Given the description of an element on the screen output the (x, y) to click on. 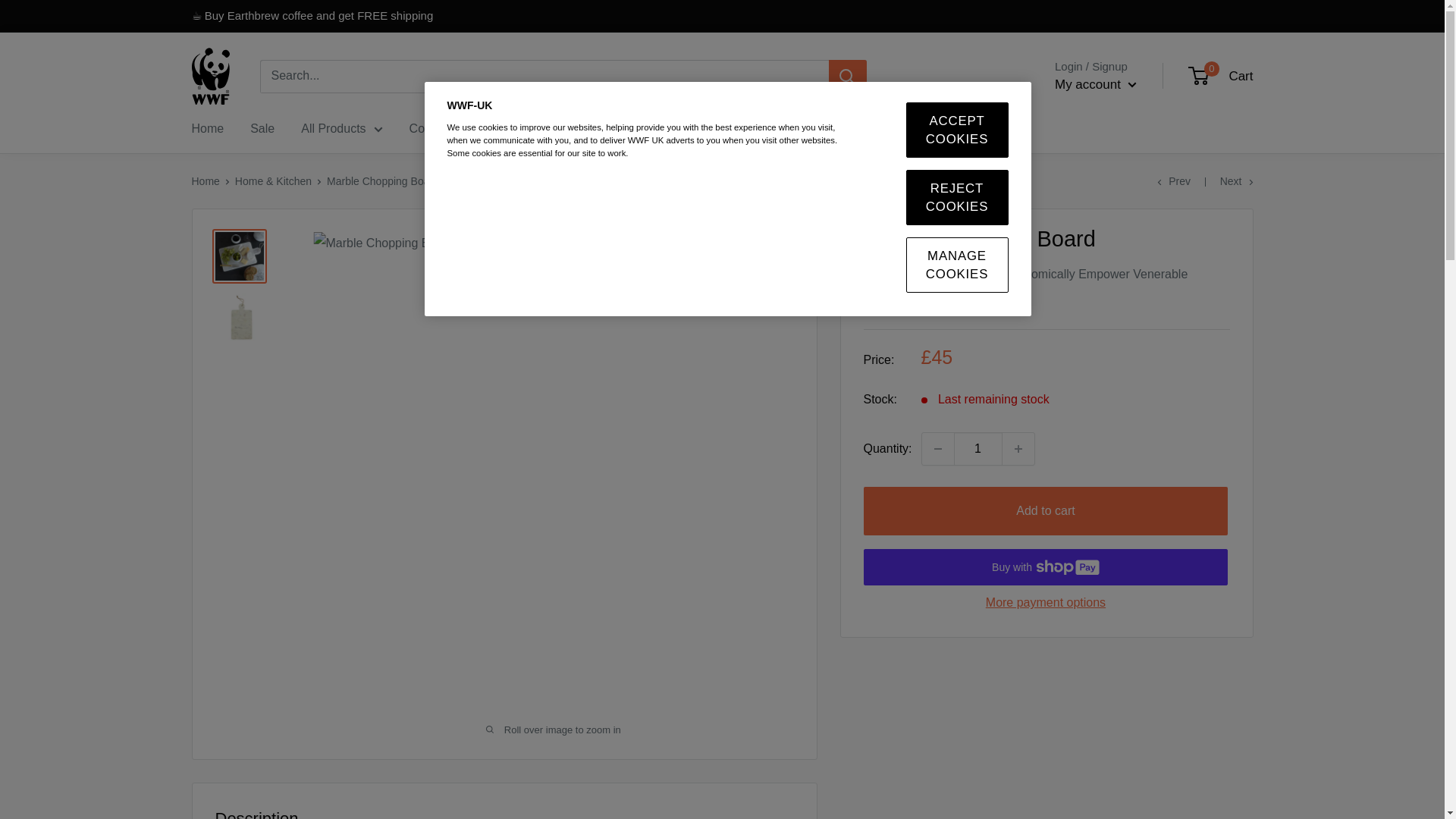
Decrease quantity by 1 (937, 449)
Increase quantity by 1 (1018, 449)
1 (978, 449)
